Given the description of an element on the screen output the (x, y) to click on. 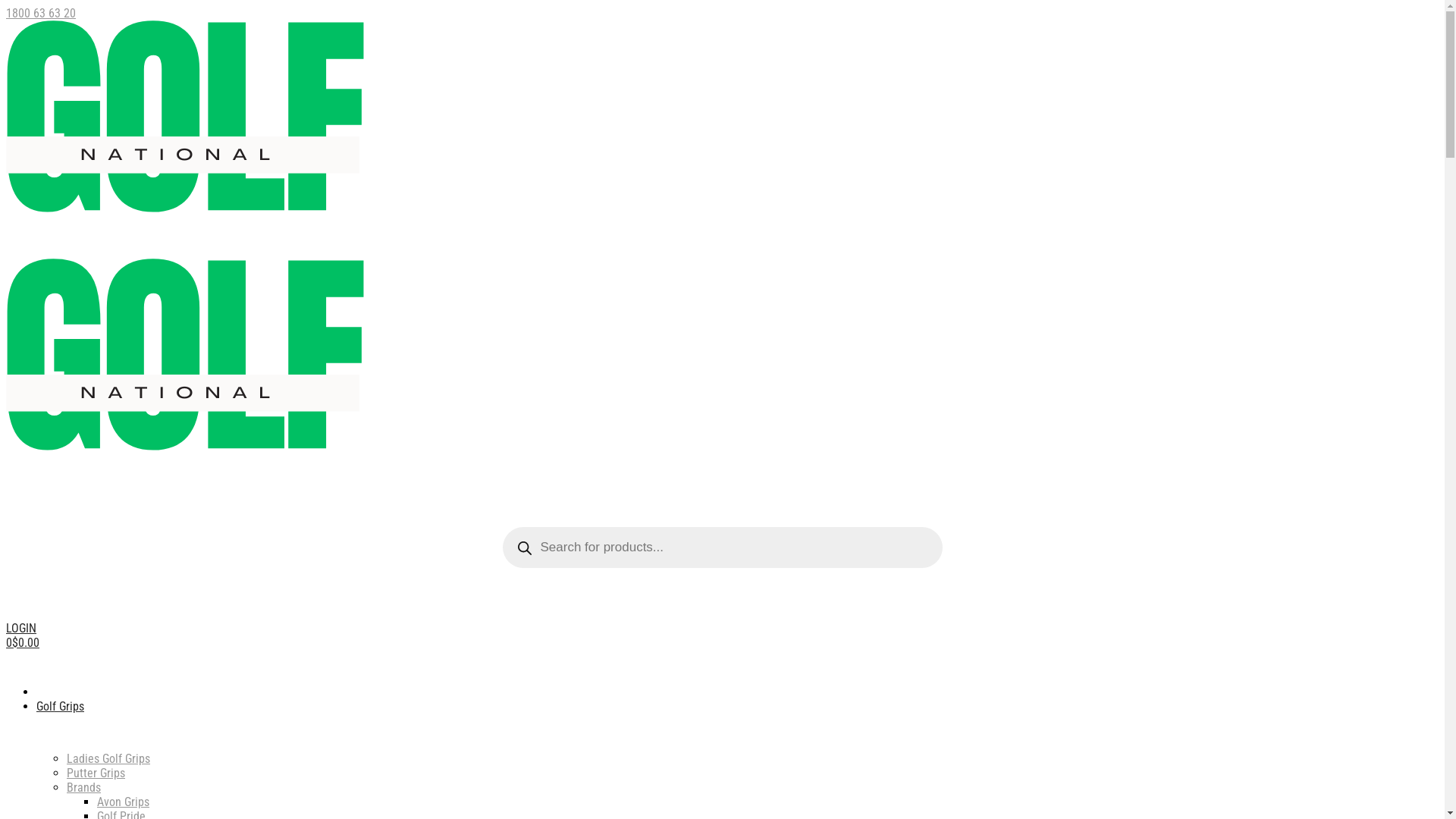
LOGIN Element type: text (21, 628)
0$0.00 Element type: text (22, 642)
Golf Grips Element type: text (60, 706)
Avon Grips Element type: text (123, 801)
1800 63 63 20 Element type: text (40, 13)
Brands Element type: text (83, 787)
Putter Grips Element type: text (95, 772)
Ladies Golf Grips Element type: text (108, 758)
